Given the description of an element on the screen output the (x, y) to click on. 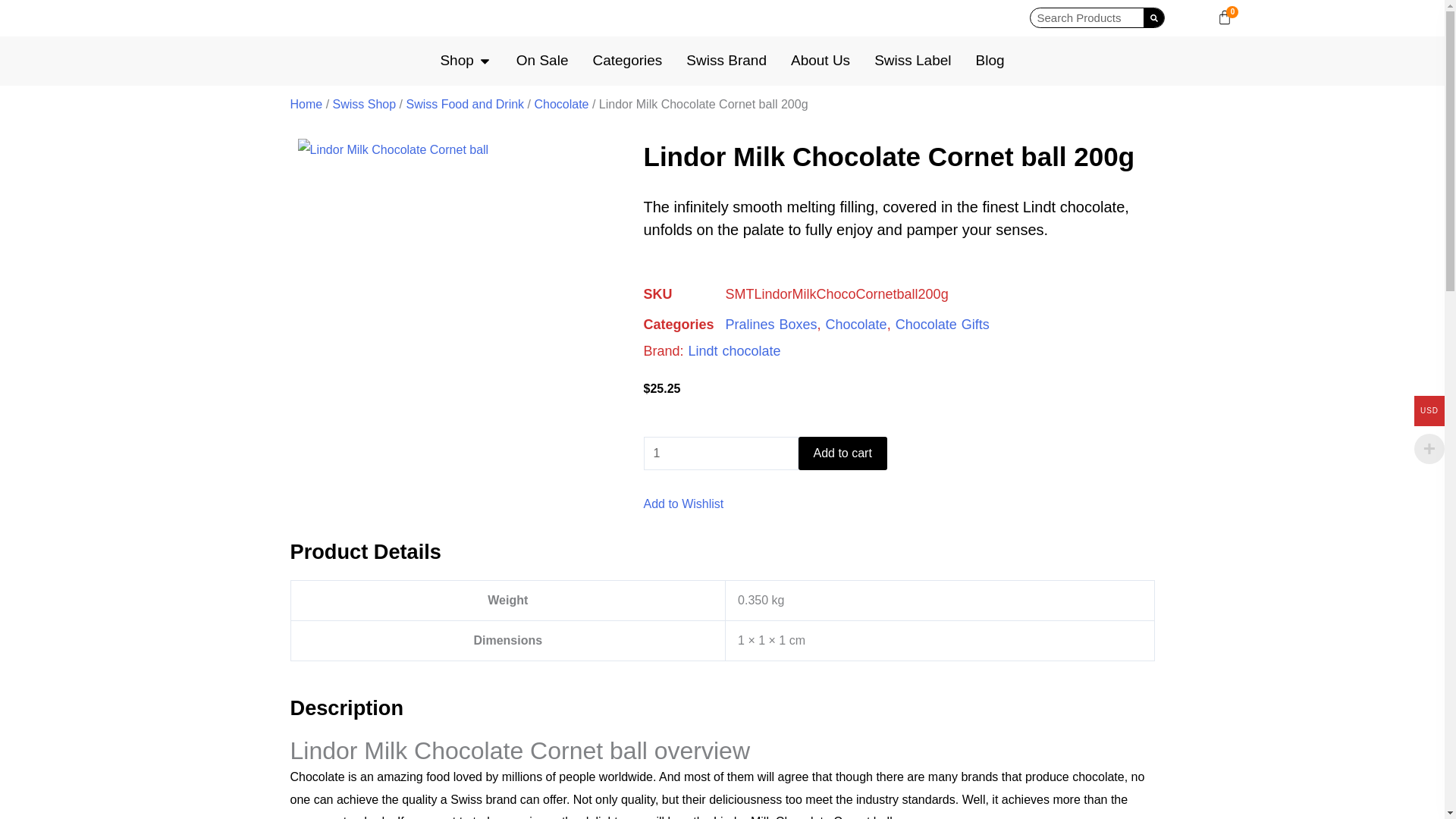
Lindor Milk Chocolate Cornet ball (392, 149)
Search (1152, 17)
1 (720, 453)
